Given the description of an element on the screen output the (x, y) to click on. 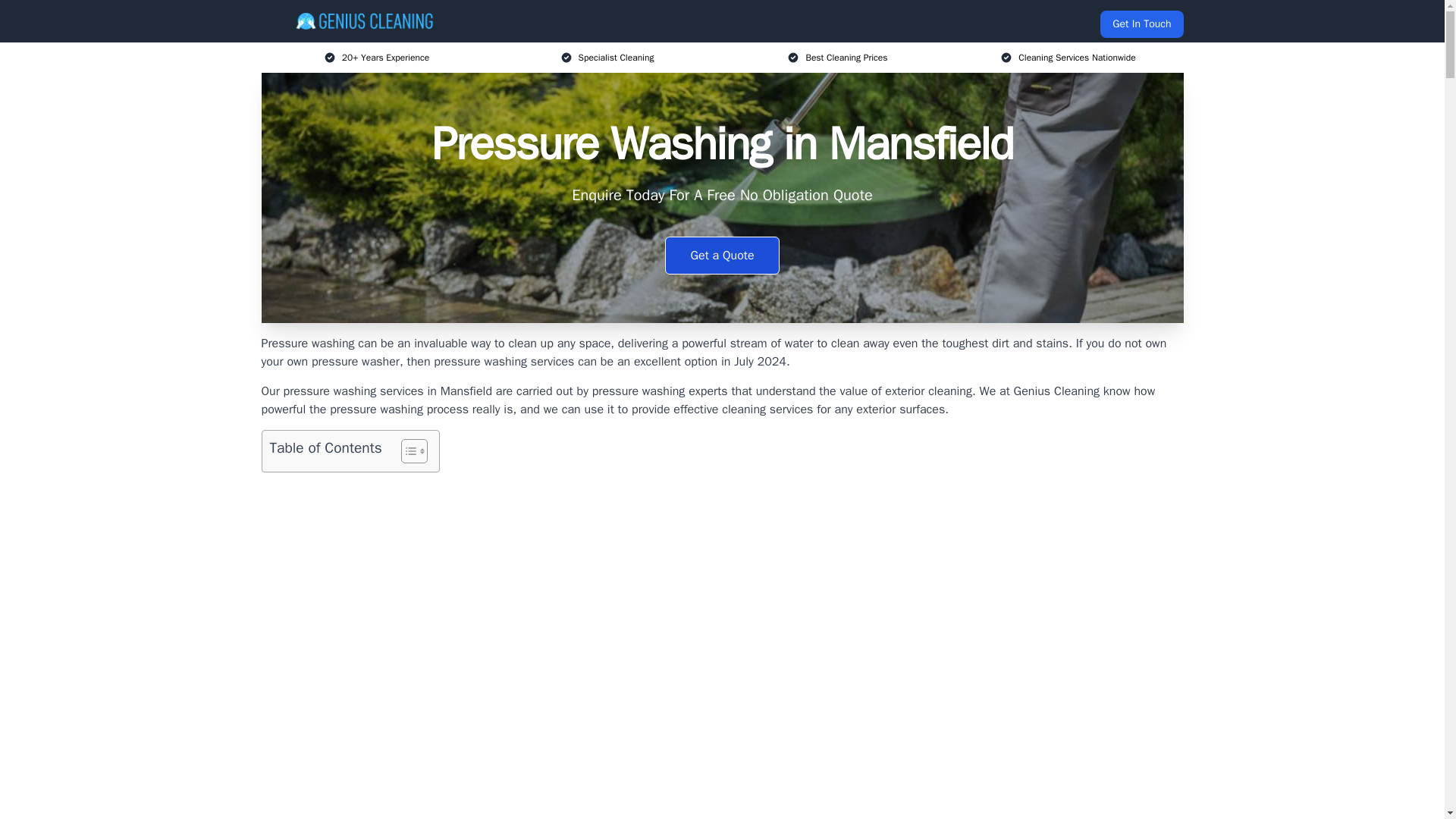
Pressure washing (306, 343)
Get In Touch (1141, 23)
Get a Quote (721, 255)
